Given the description of an element on the screen output the (x, y) to click on. 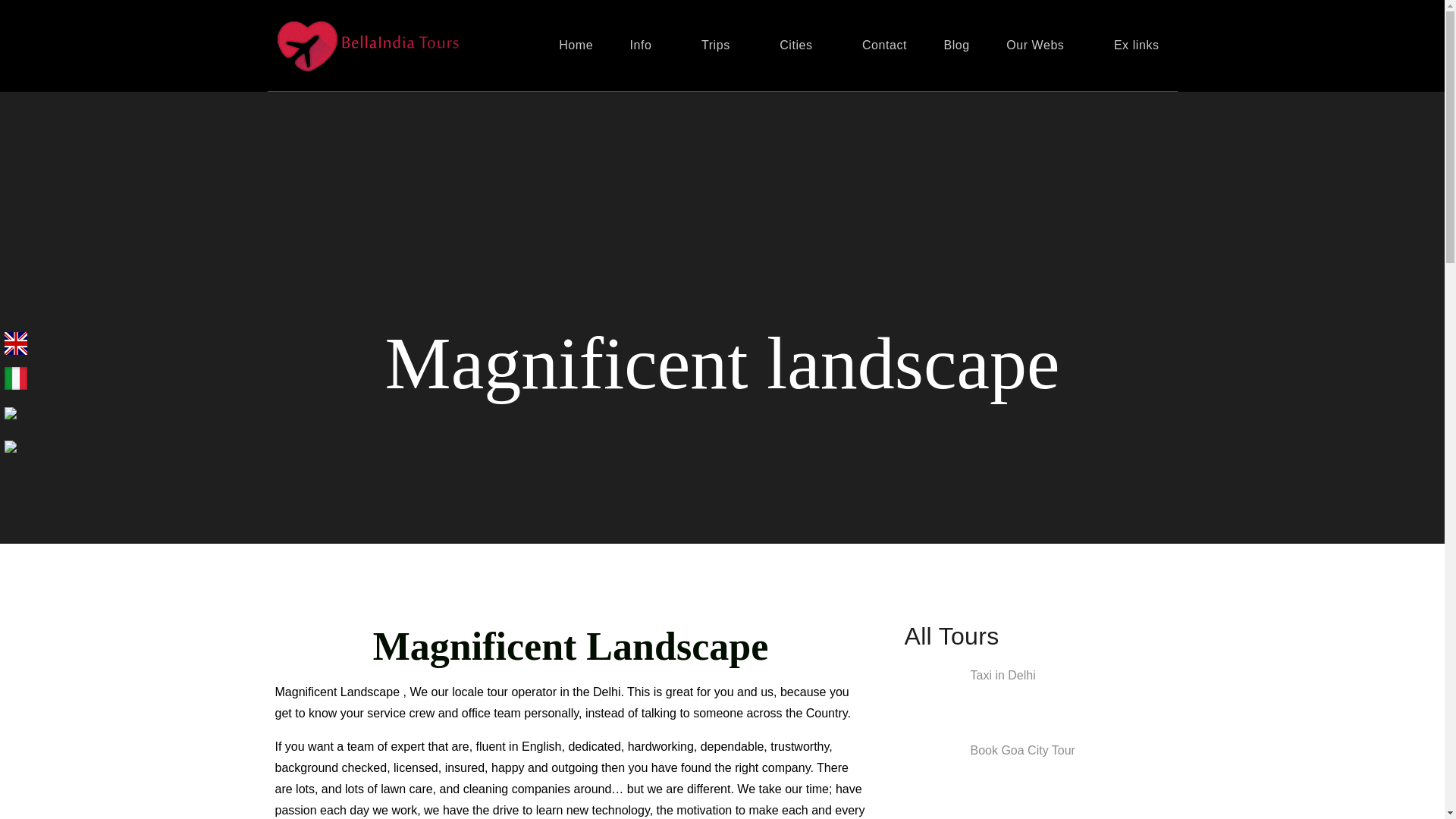
Bella India Tours (563, 60)
UK (15, 341)
France (10, 445)
Spain (10, 411)
Italy (15, 377)
